Given the description of an element on the screen output the (x, y) to click on. 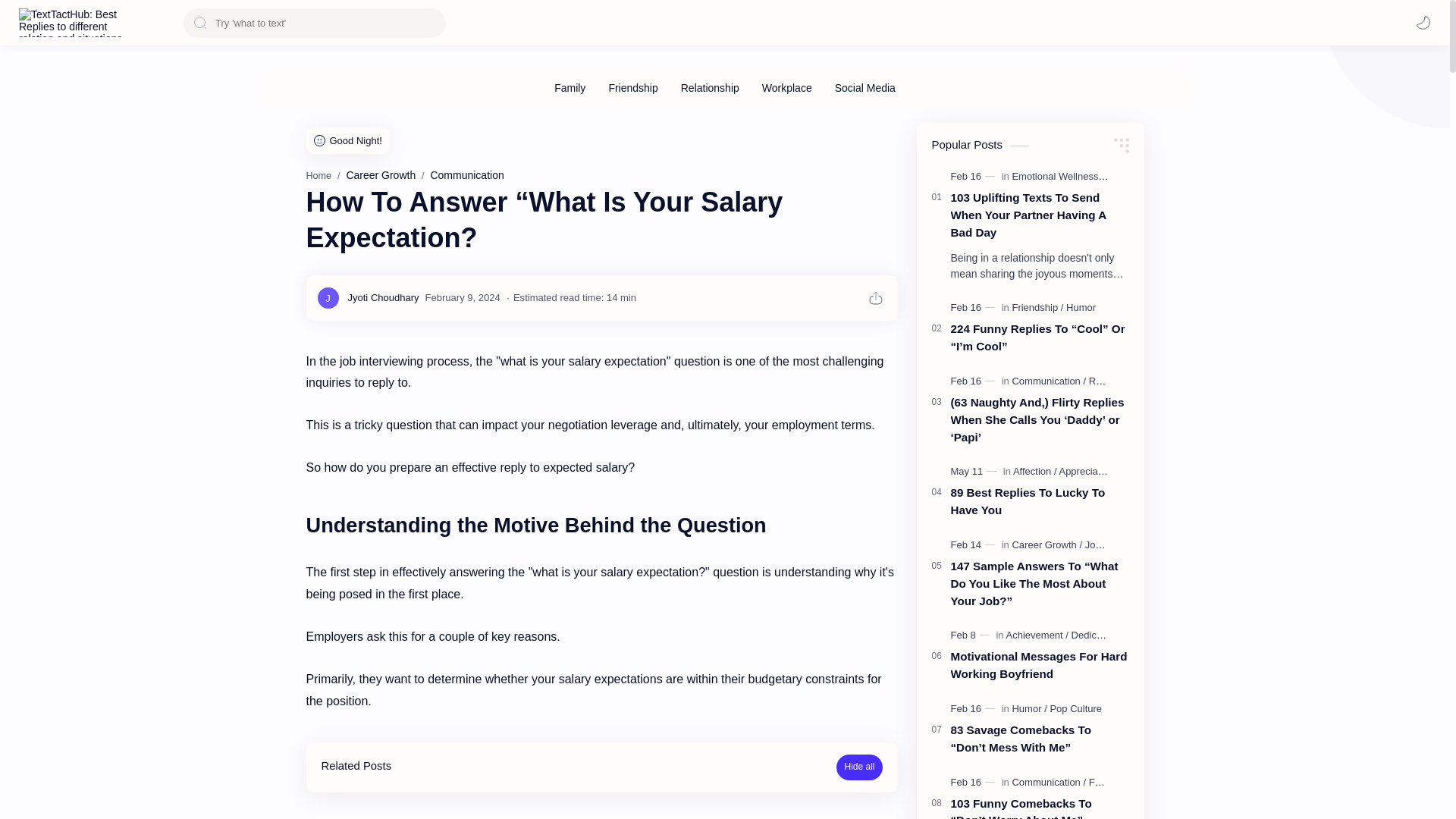
Published: February 16, 2024 (974, 307)
Published: February 16, 2024 (974, 176)
Career Growth (380, 174)
Home (318, 175)
Published: May 11, 2024 (975, 471)
Published: February 16, 2024 (974, 708)
Published: February 16, 2024 (974, 782)
Communication (466, 174)
Published: February 16, 2024 (974, 381)
